Given the description of an element on the screen output the (x, y) to click on. 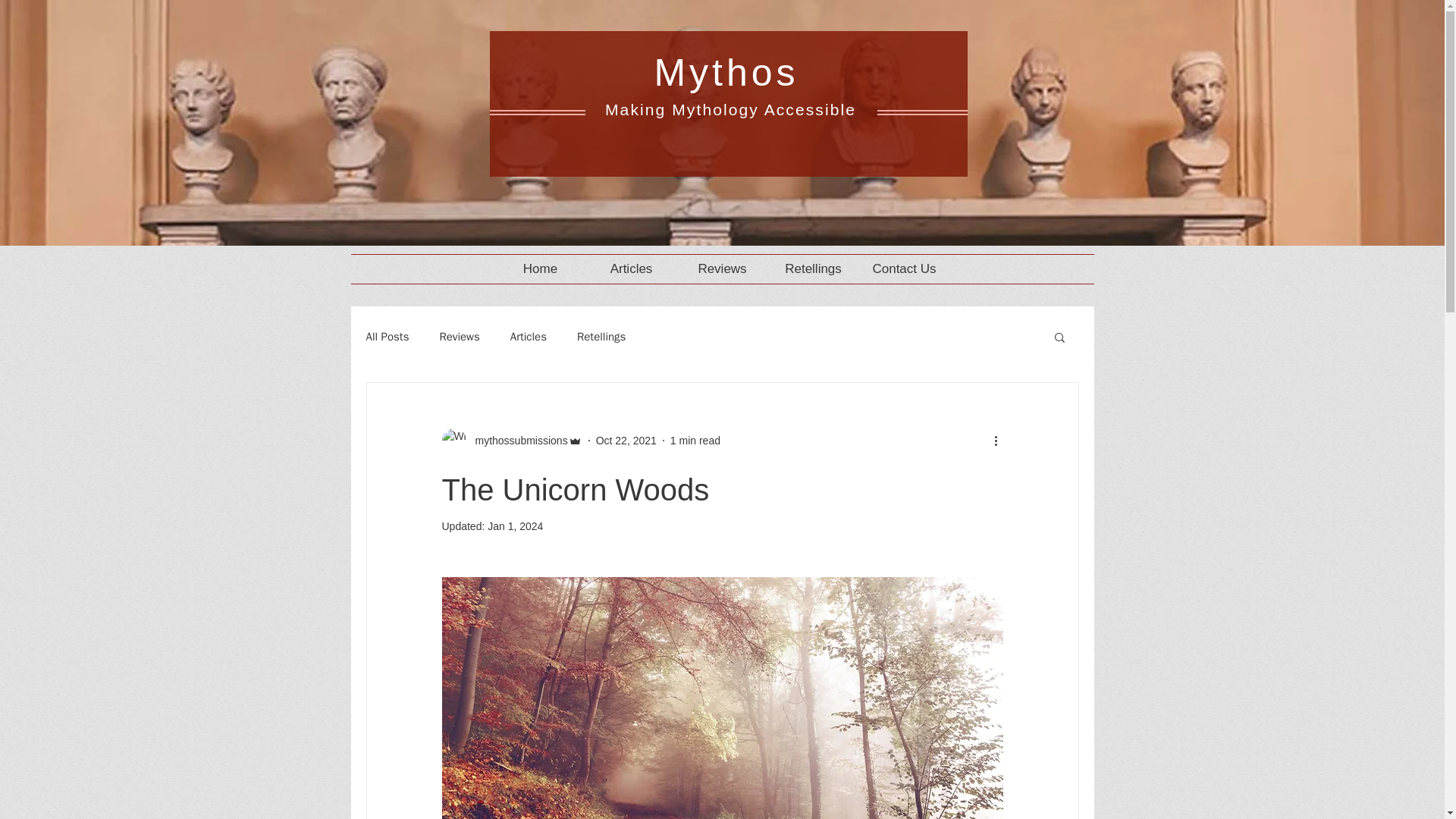
1 min read (694, 439)
Retellings (813, 268)
All Posts (387, 336)
mythossubmissions (516, 439)
Reviews (722, 268)
Mythos (725, 72)
Contact Us (904, 268)
Home (540, 268)
Reviews (459, 336)
Articles (631, 268)
Jan 1, 2024 (515, 526)
Oct 22, 2021 (625, 439)
Making Mythology Accessible  (733, 108)
Articles (529, 336)
Retellings (601, 336)
